Given the description of an element on the screen output the (x, y) to click on. 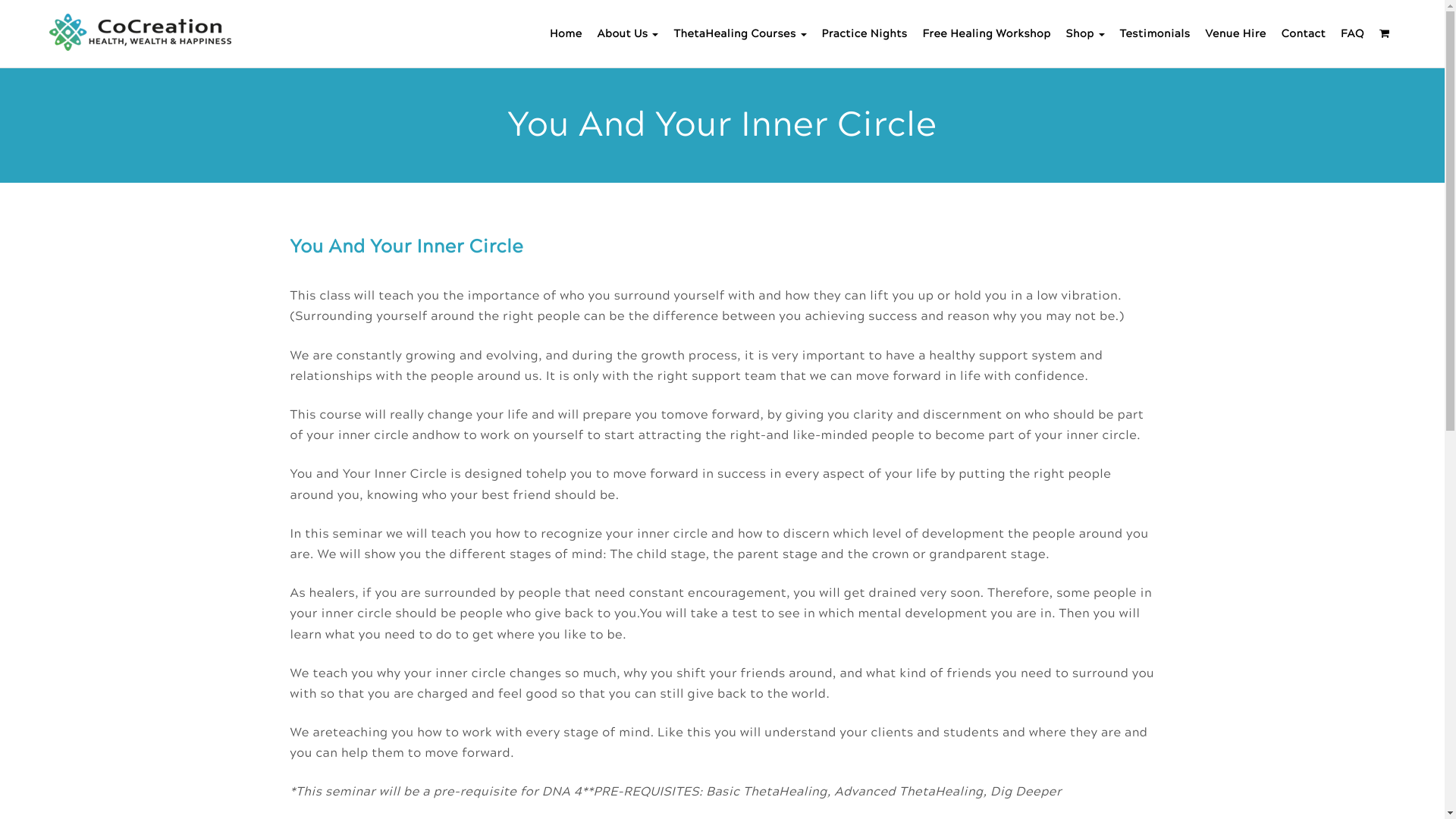
<i class="fa fa-shopping-cart"></i> Element type: hover (1384, 32)
Testimonials Element type: text (1155, 32)
Practice Nights Element type: text (864, 32)
ThetaHealing Courses Element type: text (739, 32)
Free Healing Workshop Element type: text (986, 32)
Contact Element type: text (1303, 32)
Shop Element type: text (1085, 32)
You And Your Inner Circle Element type: text (406, 247)
Home Element type: text (565, 32)
Venue Hire Element type: text (1234, 32)
About Us Element type: text (627, 32)
FAQ Element type: text (1352, 32)
